Given the description of an element on the screen output the (x, y) to click on. 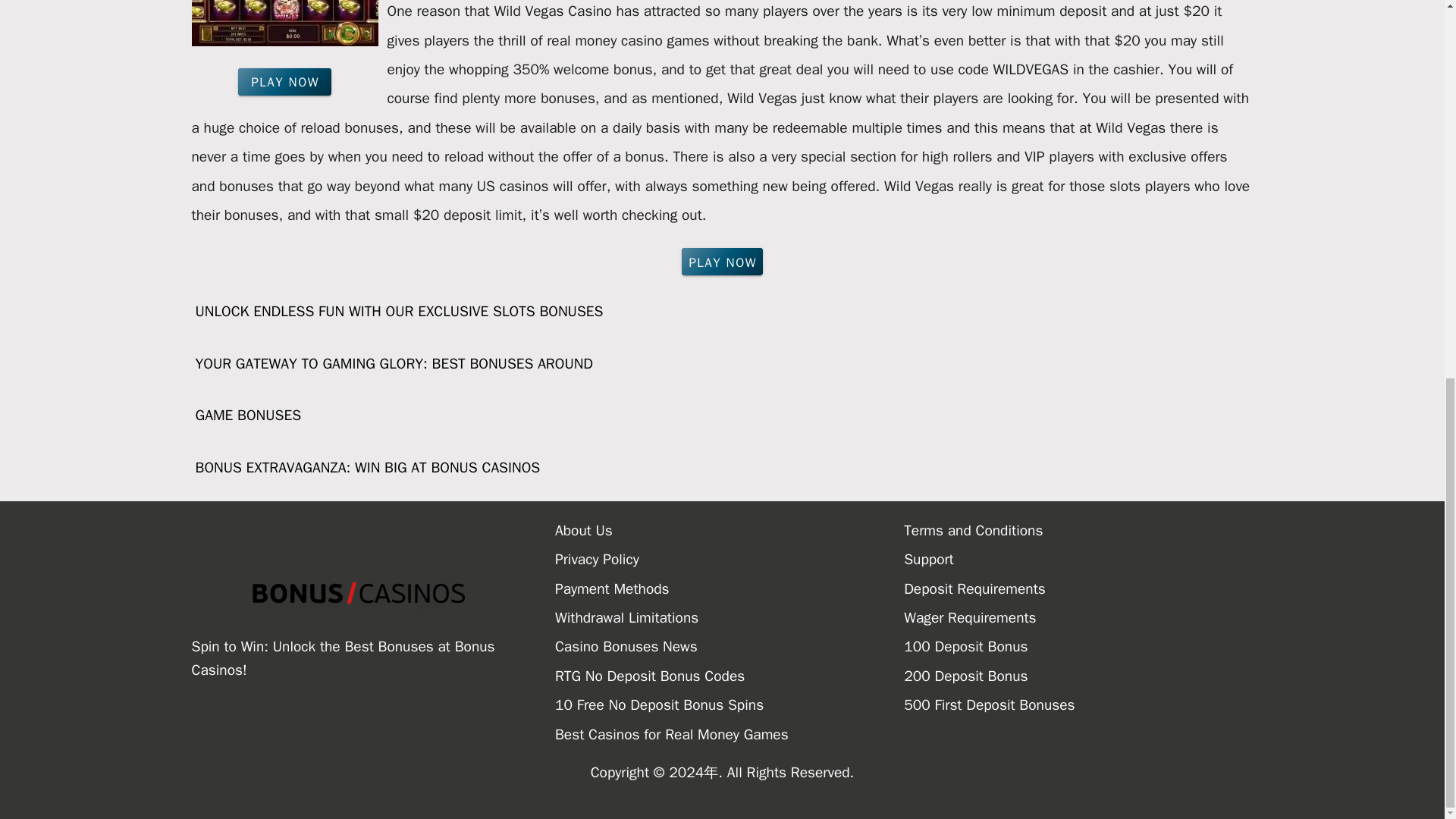
PLAY NOW (721, 261)
Casino Bonuses News (729, 646)
About Us (729, 530)
Wager Requirements (1078, 617)
Deposit Requirements (1078, 588)
Payment Methods (729, 588)
10 Free No Deposit Bonus Spins (729, 705)
Terms and Conditions (1078, 530)
PLAY NOW (284, 81)
Best Casinos for Real Money Games (729, 734)
